Given the description of an element on the screen output the (x, y) to click on. 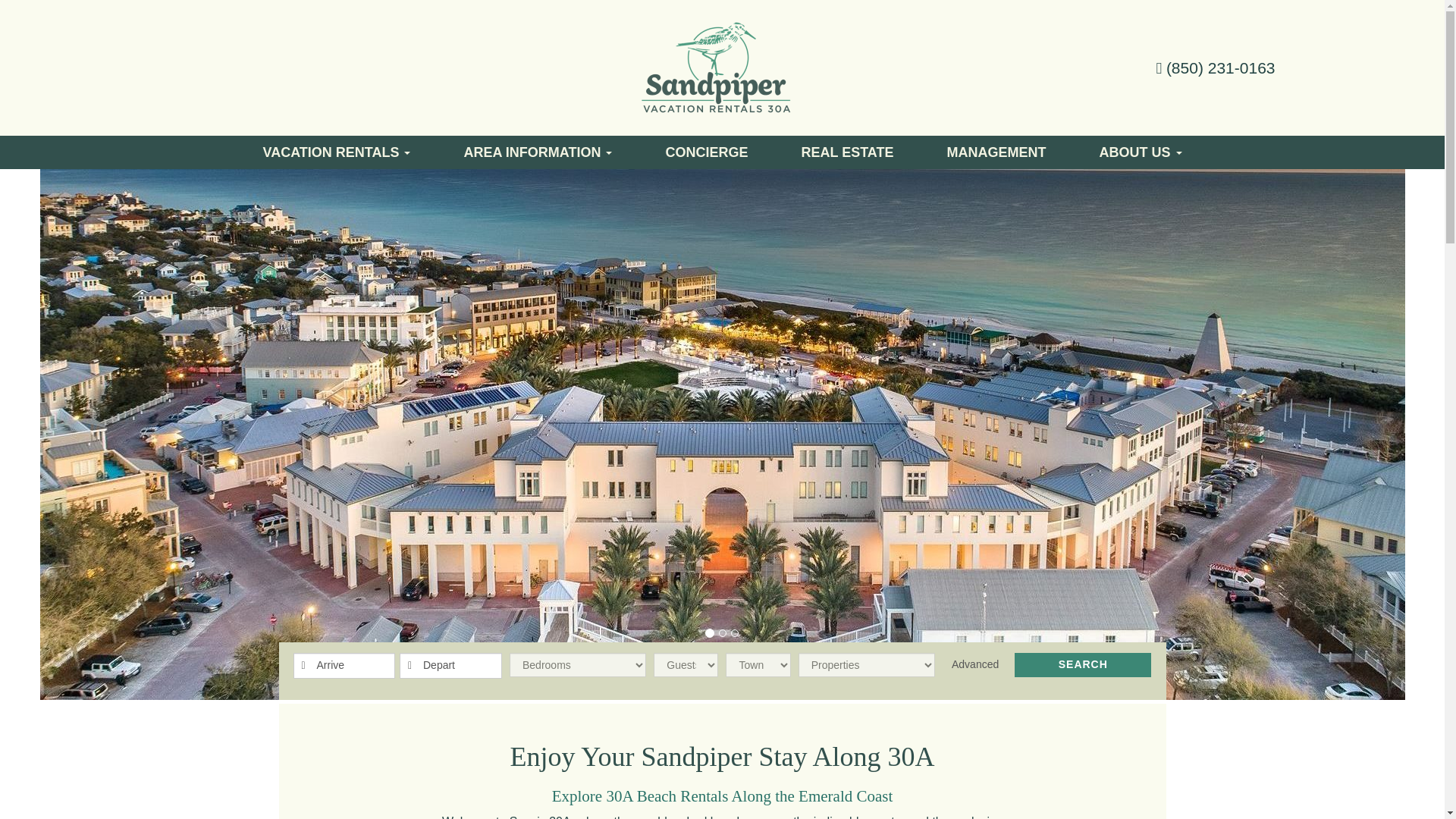
Management (996, 151)
ABOUT US (1140, 151)
VACATION RENTALS (335, 151)
home (715, 67)
ABOUT US (1140, 151)
Search (1082, 664)
AREA INFORMATION (537, 151)
MANAGEMENT (996, 151)
Advanced (974, 664)
Search (1082, 664)
REAL ESTATE (847, 151)
REAL ESTATE (847, 151)
AREA INFORMATION (537, 151)
VACATION RENTALS (335, 151)
CONCIERGE (706, 151)
